Given the description of an element on the screen output the (x, y) to click on. 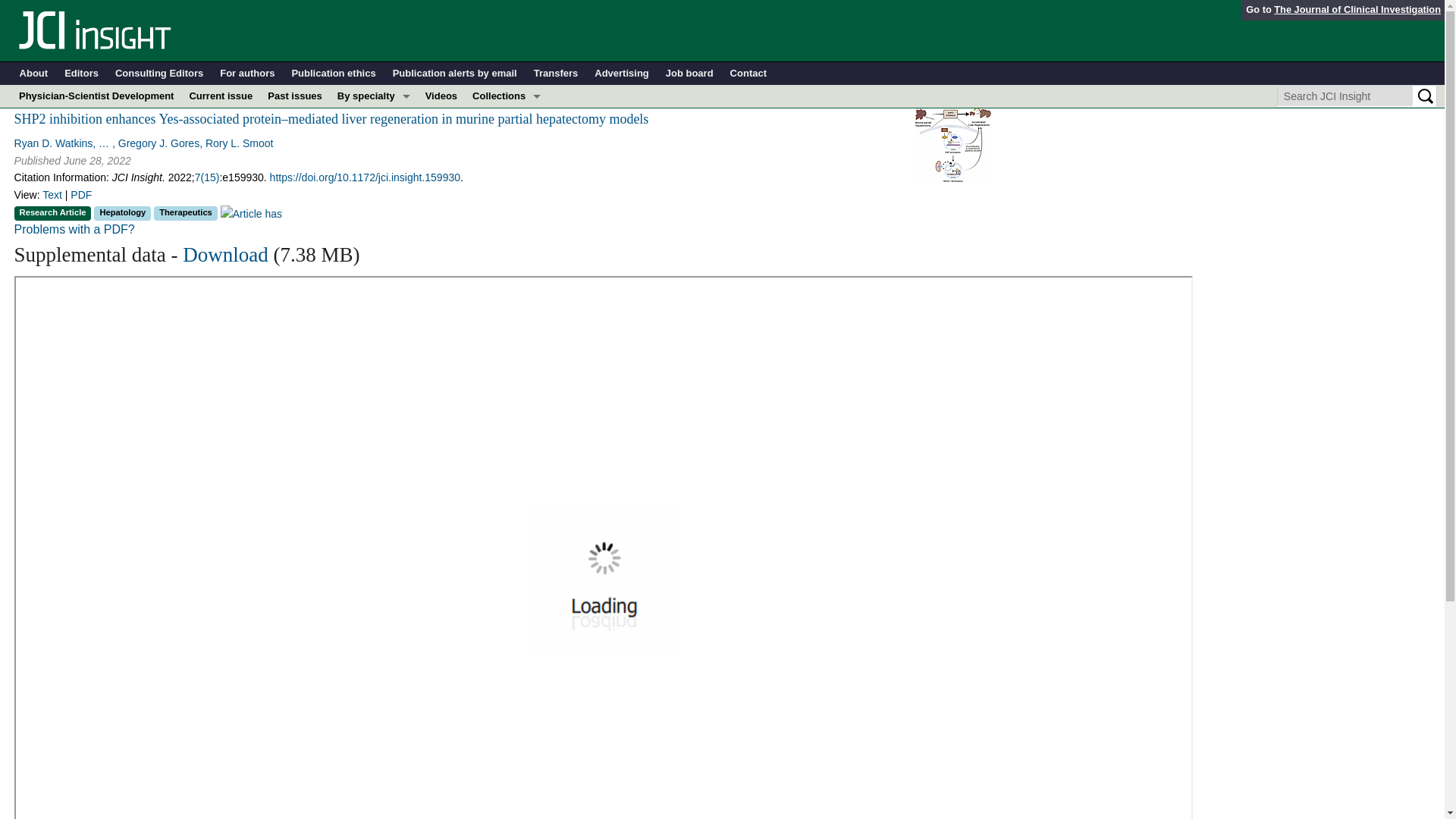
Publication alerts by email (454, 73)
Transfers (556, 73)
Advertising (621, 73)
Top read articles (506, 277)
Past issues (295, 96)
Clinical Medicine (506, 164)
Nephrology (373, 210)
Consulting Editors (159, 73)
Videos (440, 96)
Pulmonology (373, 255)
